Given the description of an element on the screen output the (x, y) to click on. 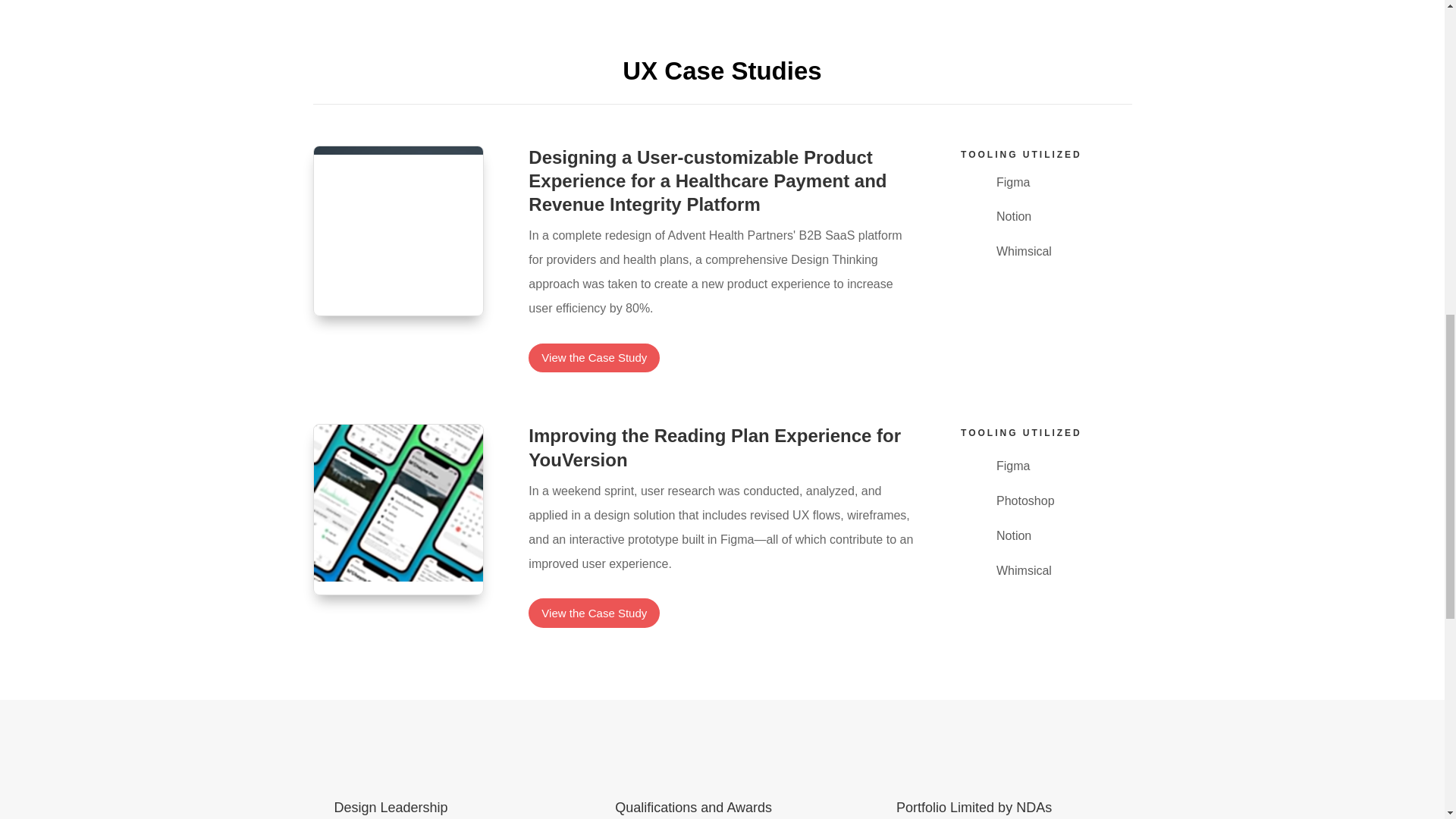
View the Case Study (593, 358)
Figma (1012, 182)
thumbnail (398, 230)
View the Case Study (593, 613)
Figma (1012, 465)
hero2 (398, 509)
